Given the description of an element on the screen output the (x, y) to click on. 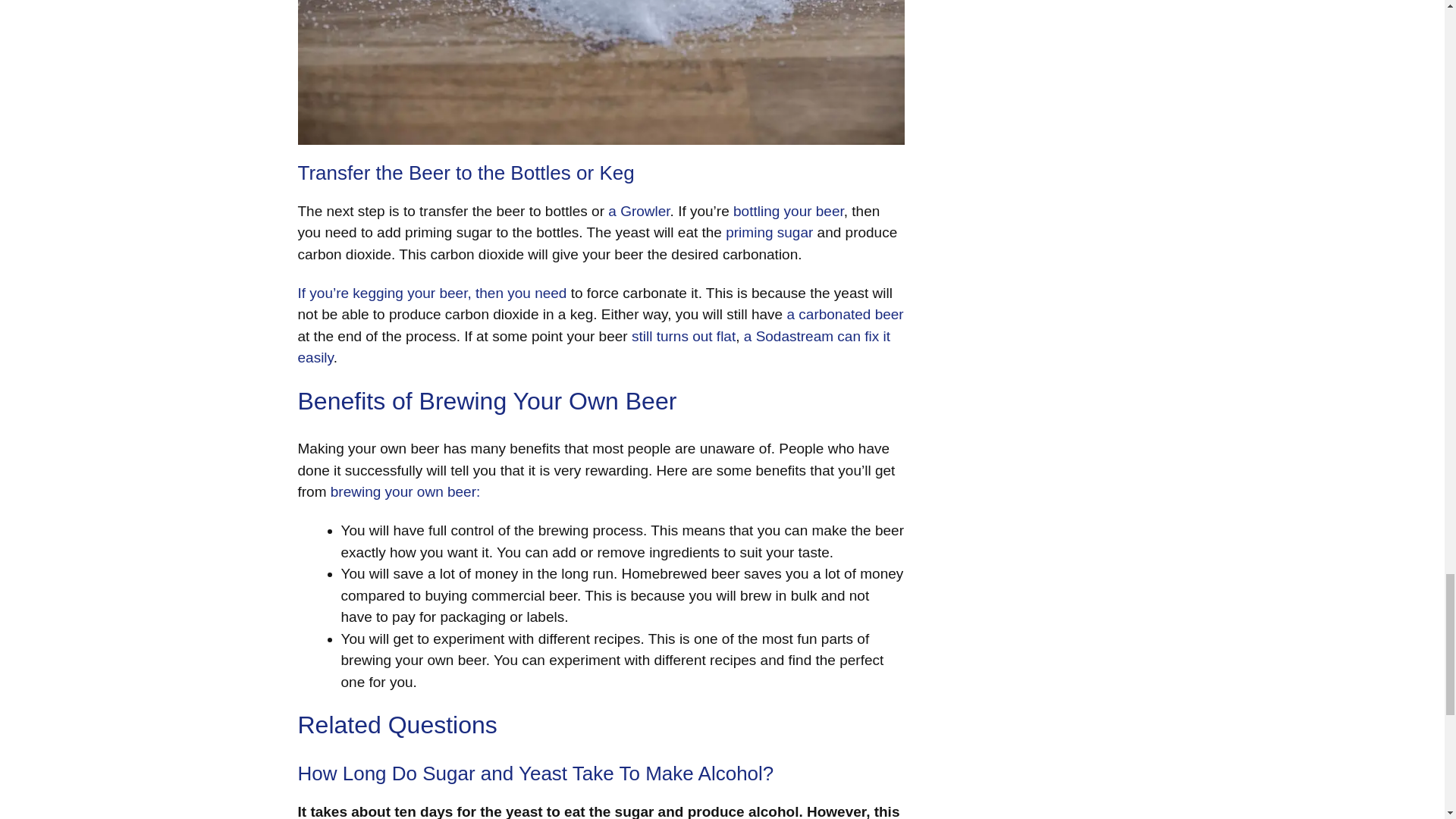
a Growler (638, 211)
priming sugar (768, 232)
bottling your beer (788, 211)
